Given the description of an element on the screen output the (x, y) to click on. 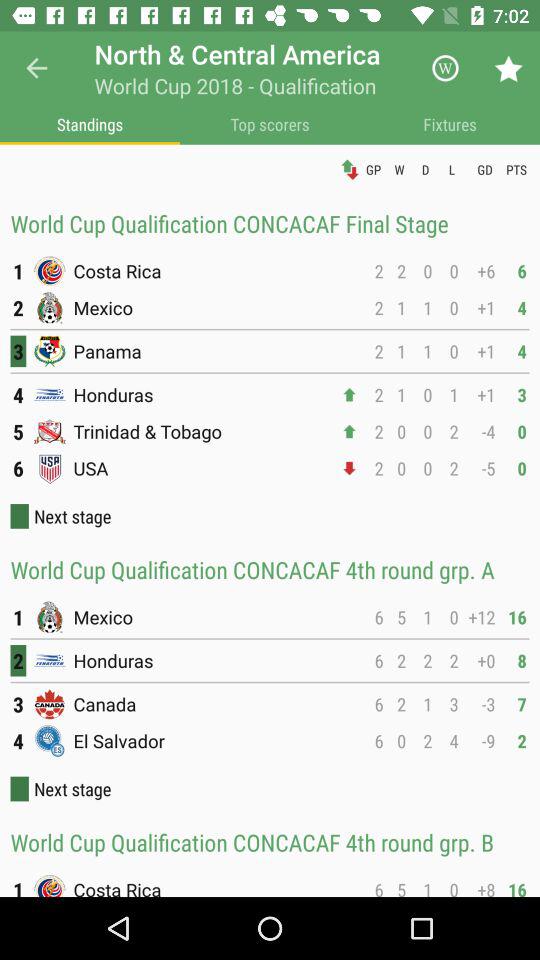
scroll until the top scorers app (270, 124)
